Given the description of an element on the screen output the (x, y) to click on. 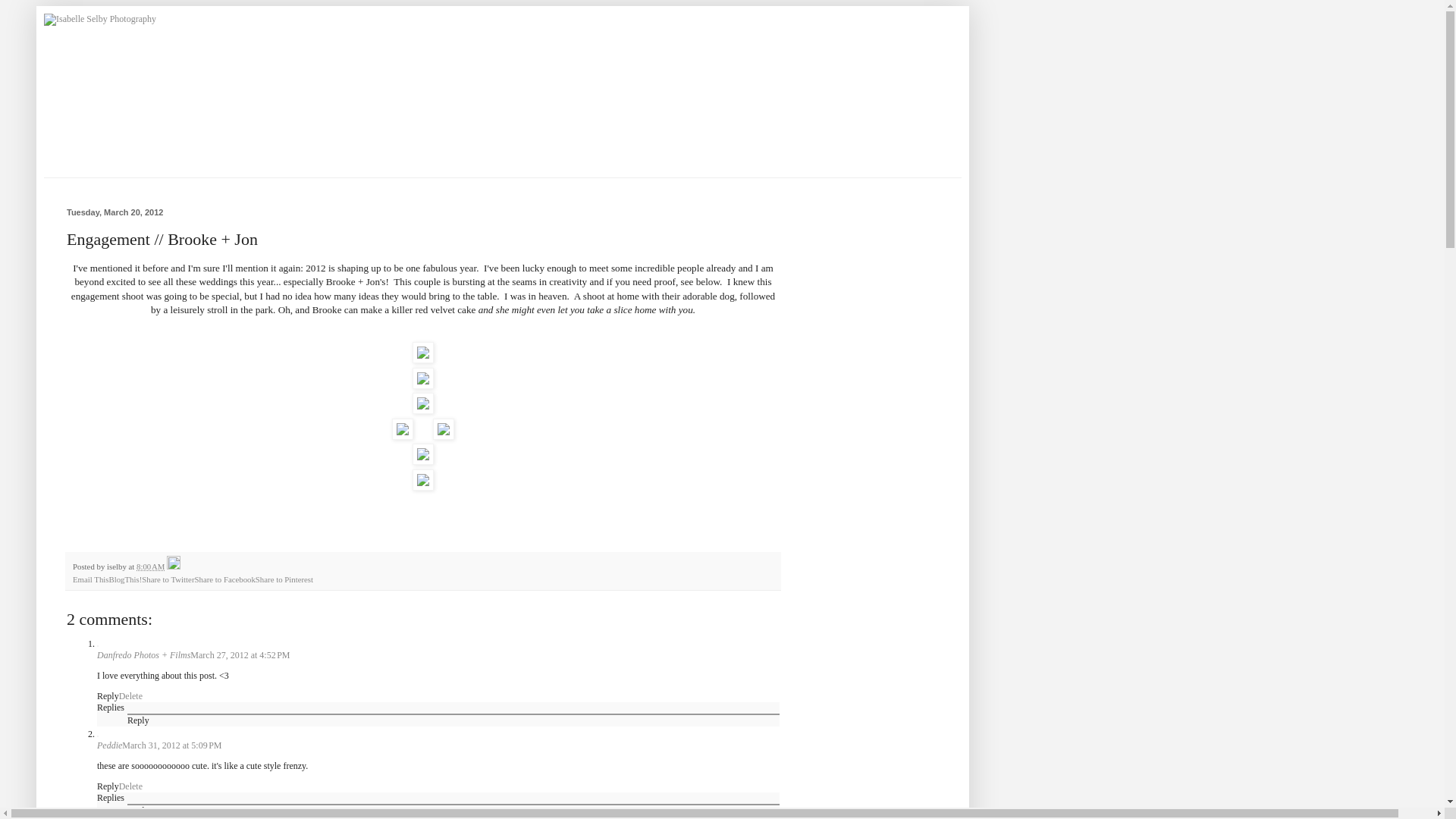
Share to Facebook (223, 578)
Delete (130, 696)
Edit Post (173, 565)
Email This (89, 578)
Reply (108, 696)
Replies (110, 706)
permanent link (150, 565)
Reply (138, 810)
Replies (110, 797)
Share to Pinterest (284, 578)
Peddie (109, 745)
Reply (108, 786)
Share to Twitter (167, 578)
